Given the description of an element on the screen output the (x, y) to click on. 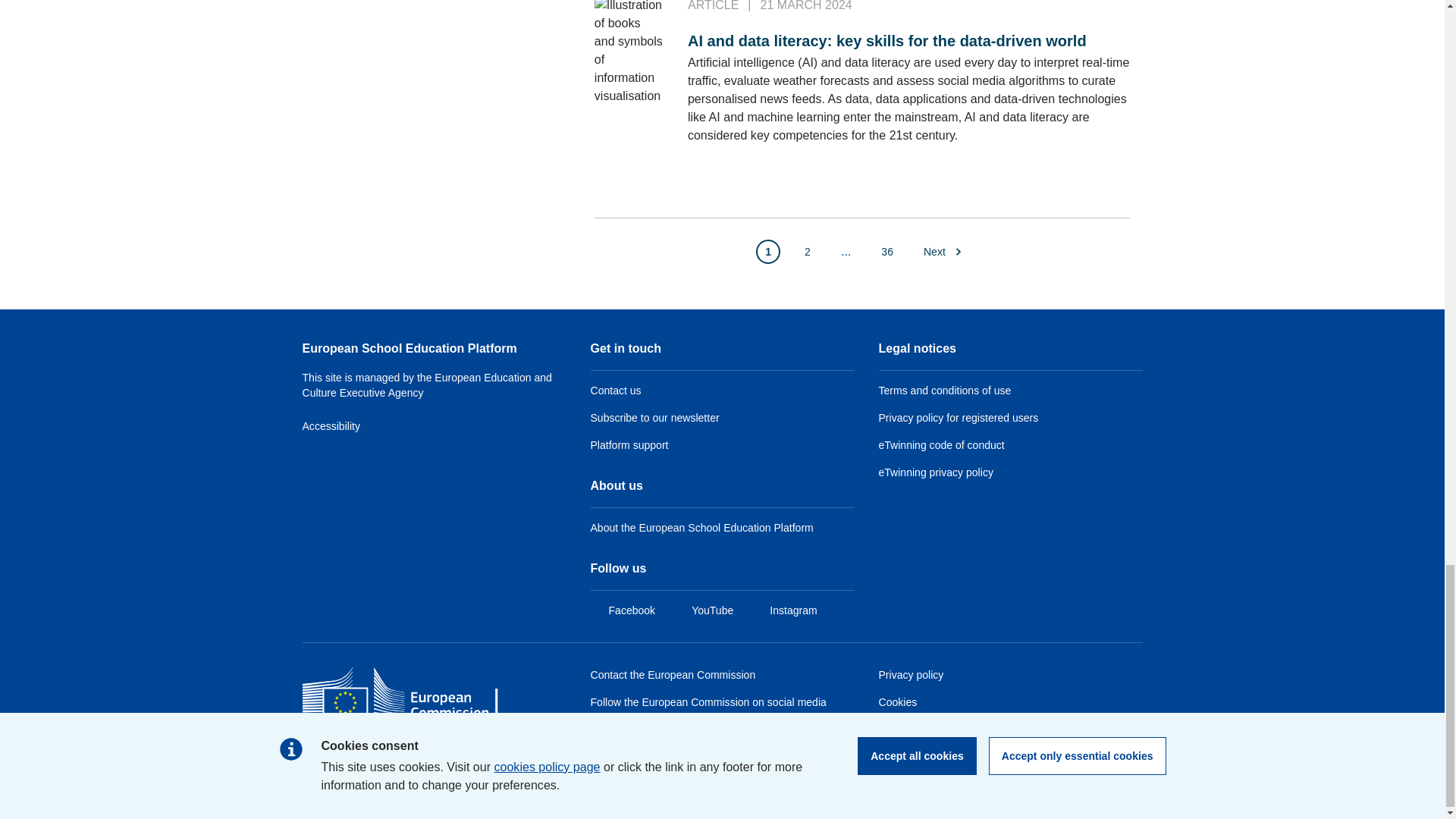
European Commission (411, 717)
